Given the description of an element on the screen output the (x, y) to click on. 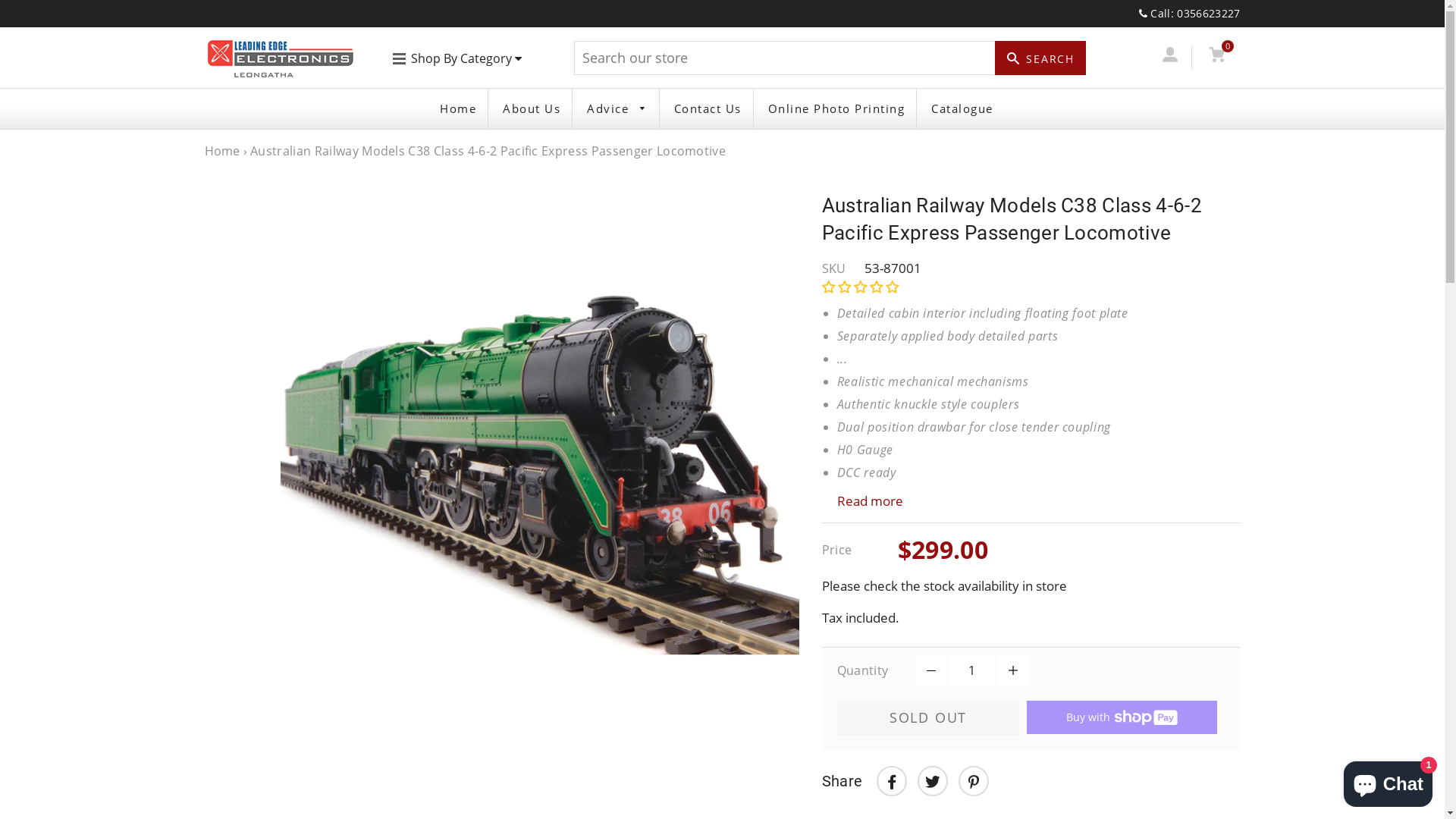
SEARCH Element type: text (1039, 57)
Log In Element type: text (1170, 56)
Share
Share on Facebook Element type: text (891, 780)
SOLD OUT Element type: text (928, 717)
Pin it
Pin on Pinterest Element type: text (973, 780)
Home Element type: text (457, 108)
About Us Element type: text (531, 108)
Shopify online store chat Element type: hover (1388, 780)
Tweet
Tweet on Twitter Element type: text (932, 780)
Contact Us Element type: text (707, 108)
Home Element type: text (222, 150)
Call: 0356623227 Element type: text (1189, 13)
Read more Element type: text (1031, 501)
Cart
0 Element type: text (1217, 56)
Catalogue Element type: text (961, 108)
Advice Element type: text (616, 108)
Online Photo Printing Element type: text (836, 108)
